Given the description of an element on the screen output the (x, y) to click on. 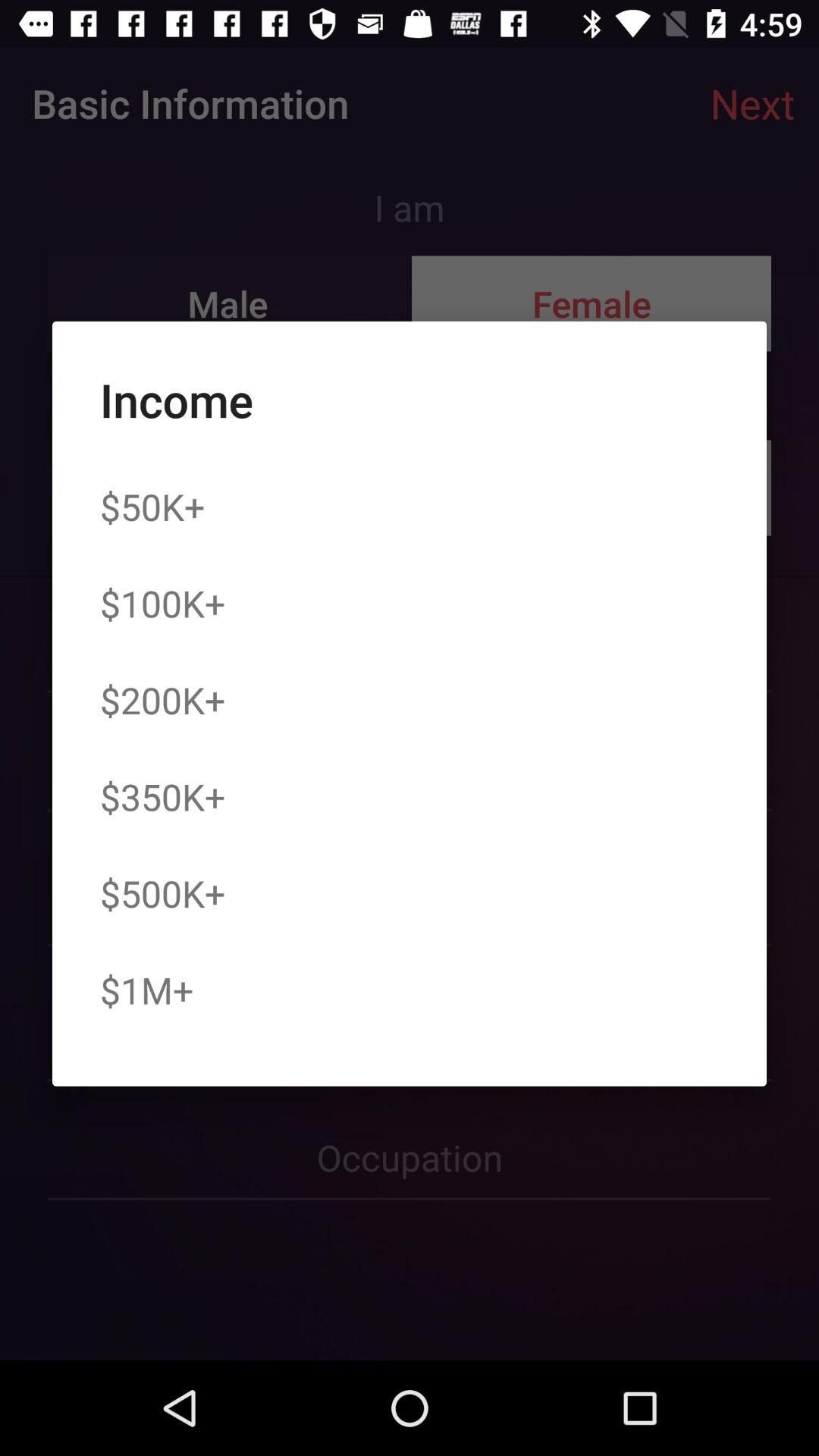
turn on the icon above the $1m+ item (162, 893)
